Given the description of an element on the screen output the (x, y) to click on. 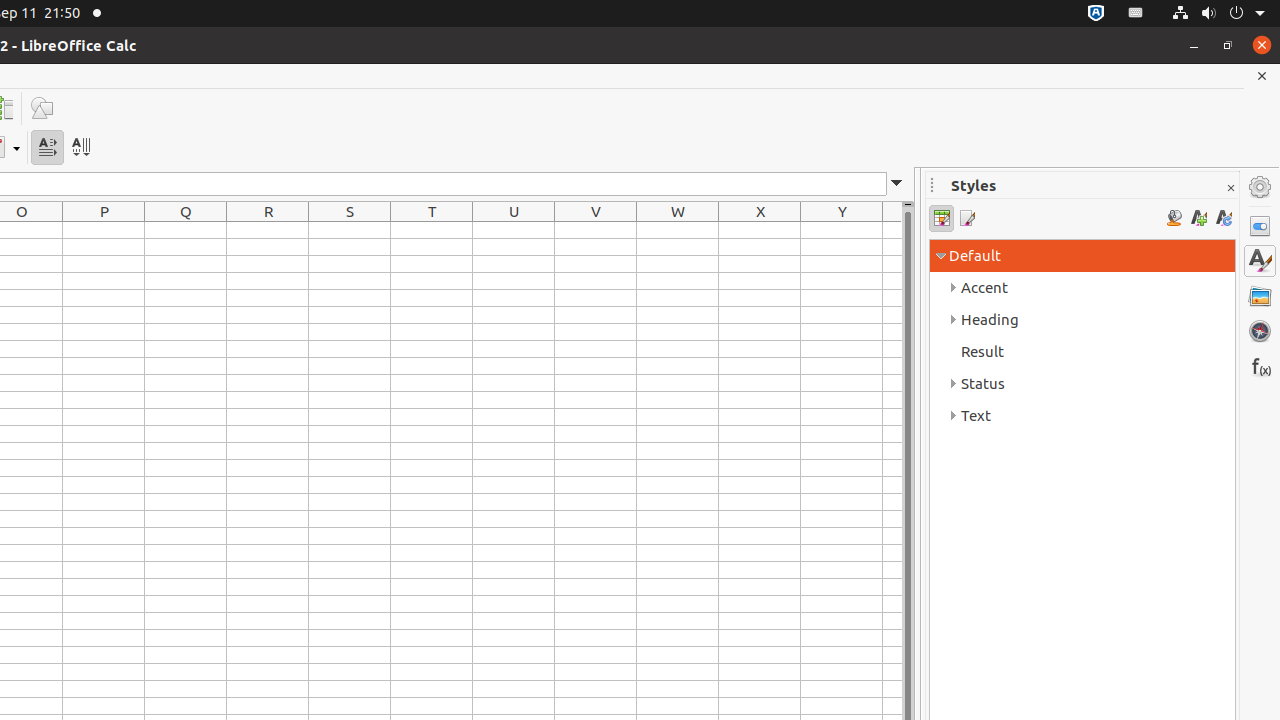
Text direction from left to right Element type: toggle-button (47, 147)
Close Sidebar Deck Element type: push-button (1230, 188)
R1 Element type: table-cell (268, 230)
Text direction from top to bottom Element type: toggle-button (80, 147)
